Given the description of an element on the screen output the (x, y) to click on. 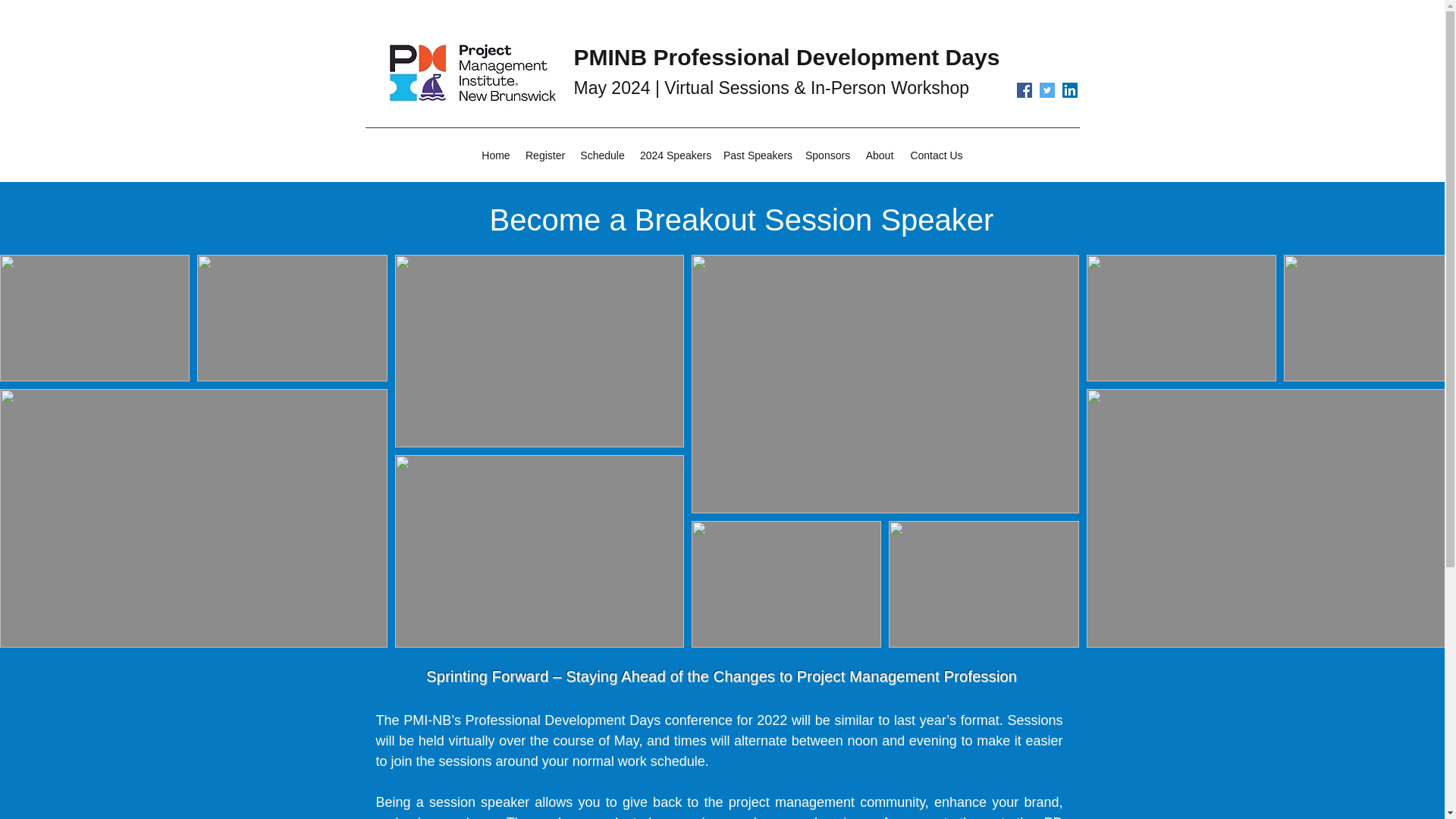
About (879, 155)
Sponsors (827, 155)
Contact Us (936, 155)
Home (496, 155)
Register (545, 155)
Schedule (601, 155)
PMINB Professional Development Days (785, 57)
